Given the description of an element on the screen output the (x, y) to click on. 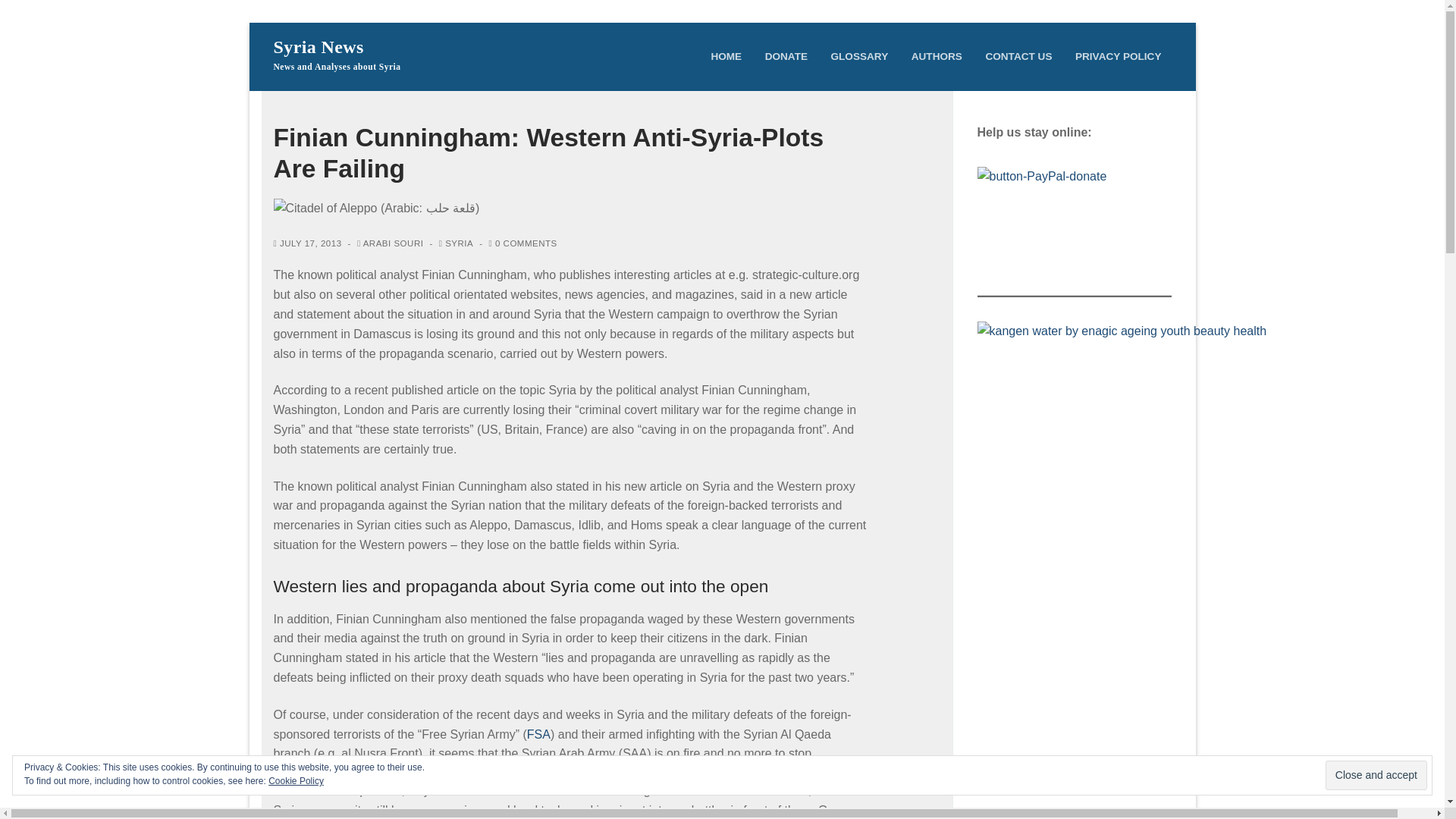
Syria News (317, 47)
0 COMMENTS (523, 243)
AUTHORS (936, 56)
DONATE (785, 56)
GLOSSARY (859, 56)
ARABI SOURI (389, 243)
FSA (538, 734)
CONTACT US (1018, 56)
SYRIA (456, 243)
JULY 17, 2013 (306, 243)
HOME (725, 56)
Close and accept (1375, 775)
PRIVACY POLICY (1118, 56)
